Given the description of an element on the screen output the (x, y) to click on. 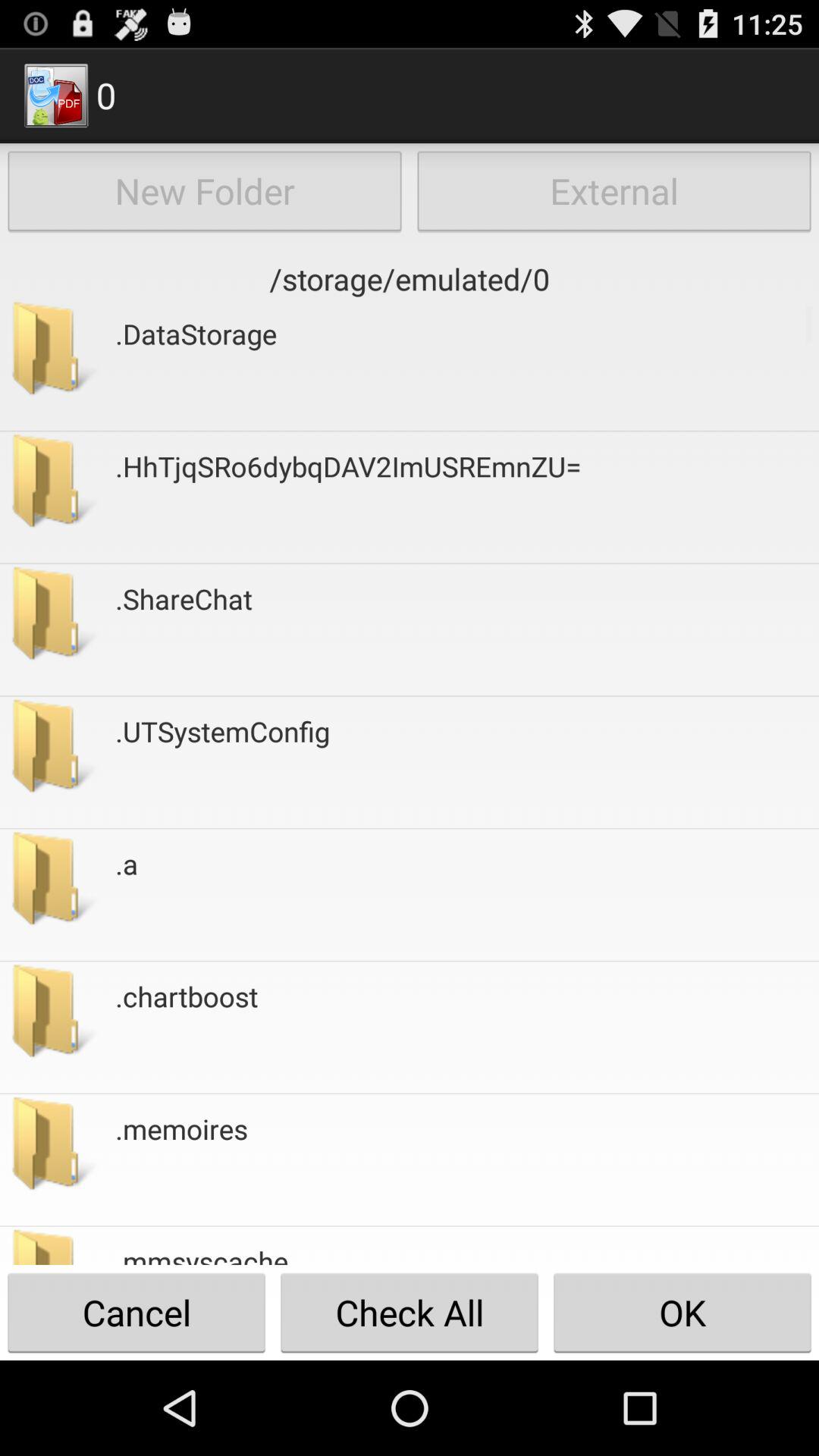
scroll until .utsystemconfig (222, 762)
